Given the description of an element on the screen output the (x, y) to click on. 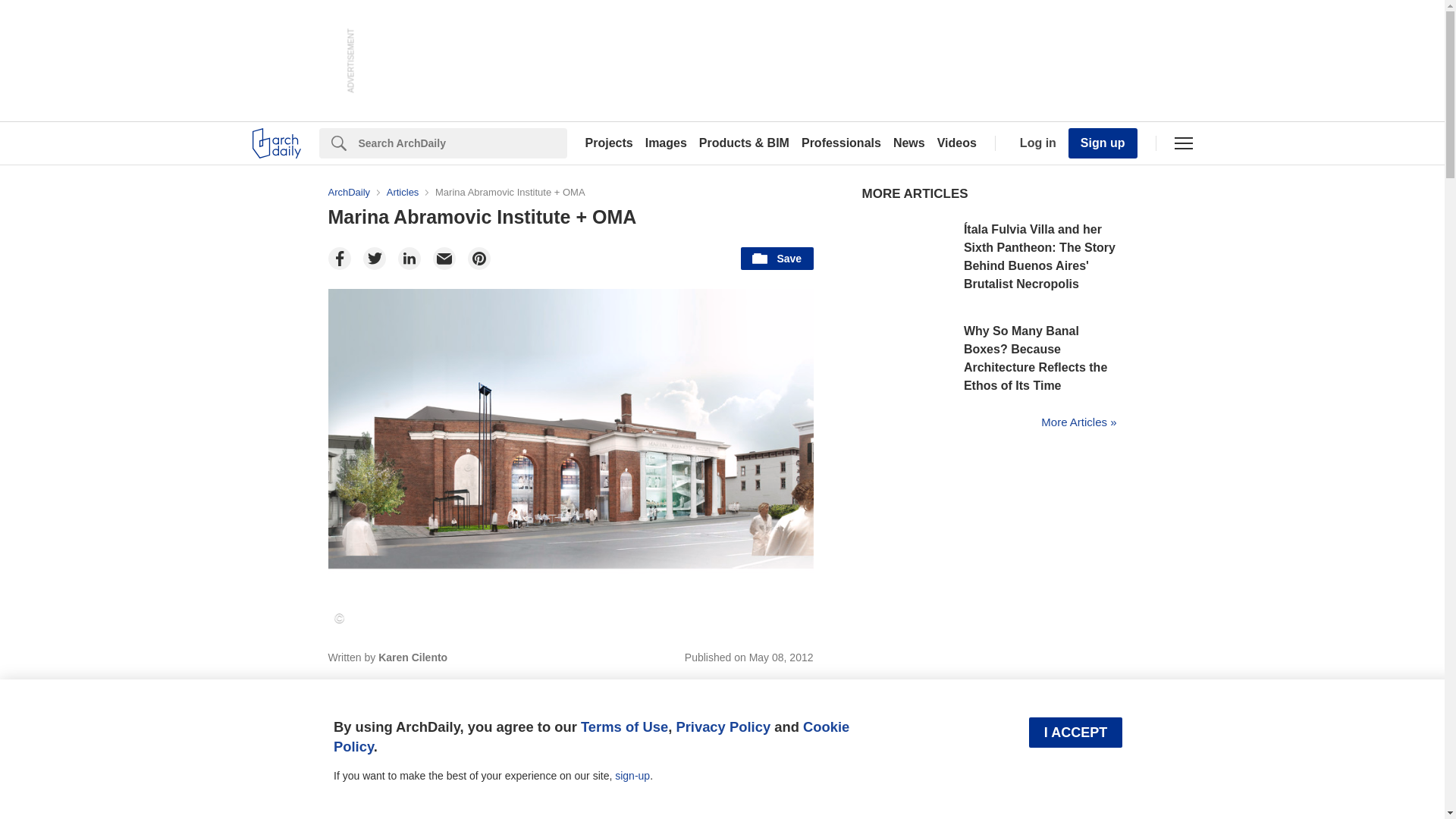
Professionals (840, 143)
Sign up (1102, 142)
Projects (609, 143)
Images (666, 143)
News (908, 143)
Log in (1035, 142)
Videos (956, 143)
3rd party ad content (722, 60)
